Given the description of an element on the screen output the (x, y) to click on. 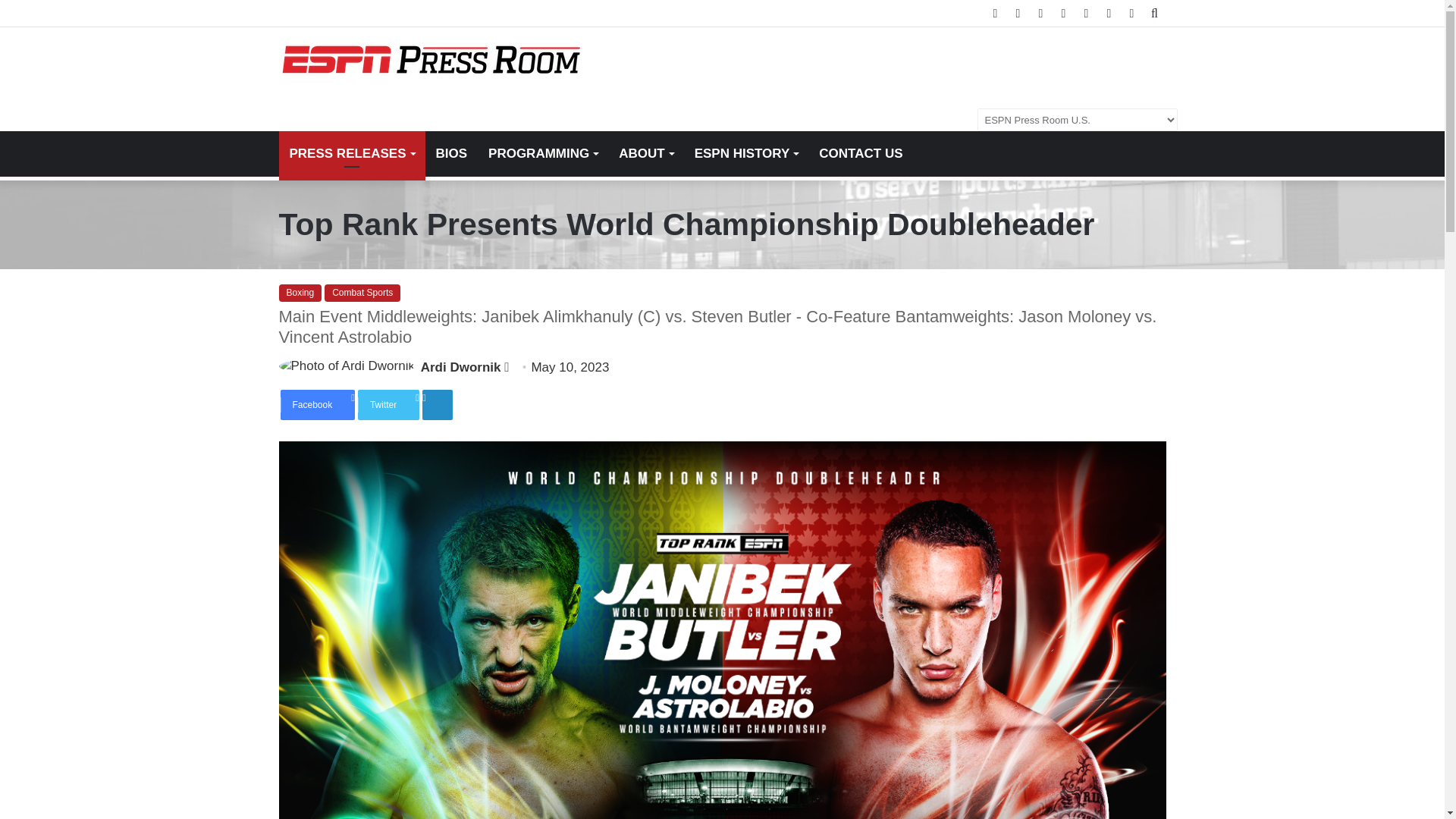
ABOUT (645, 153)
Ardi Dwornik (460, 367)
ESPN Press Room U.S. (430, 59)
Ardi Dwornik (460, 367)
Facebook (318, 404)
CONTACT US (860, 153)
ESPN HISTORY (746, 153)
Twitter (388, 404)
BIOS (451, 153)
LinkedIn (437, 404)
